Given the description of an element on the screen output the (x, y) to click on. 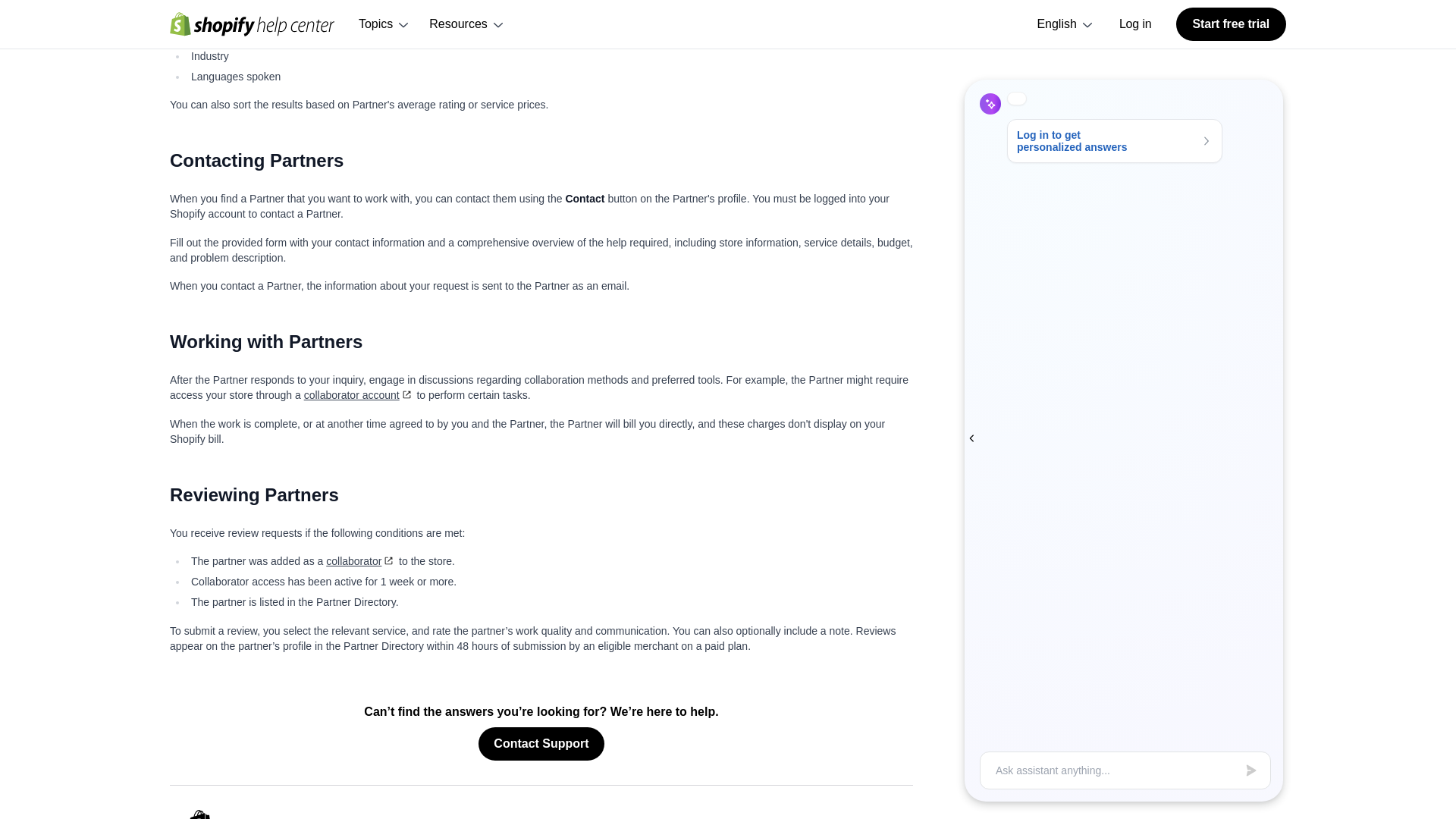
Contact Support (541, 743)
collaborator account (358, 395)
collaborator (361, 561)
Privacy Policy (861, 818)
Terms of Service (765, 818)
